Given the description of an element on the screen output the (x, y) to click on. 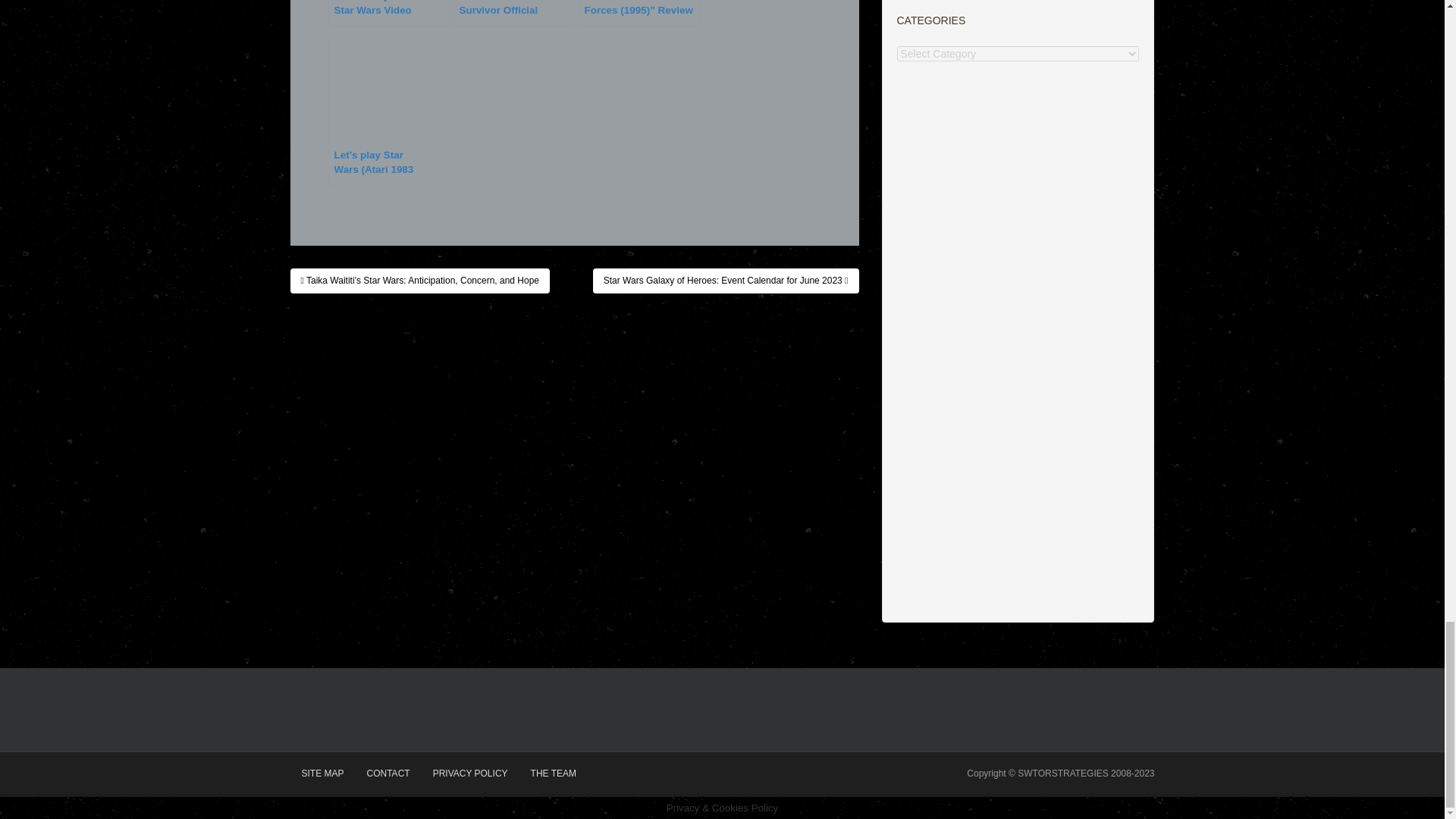
Star Wars: Jedi Survivor Official Gameplay Trailer (513, 13)
Has Disney Failed With Star Wars Video Games? (387, 13)
